Given the description of an element on the screen output the (x, y) to click on. 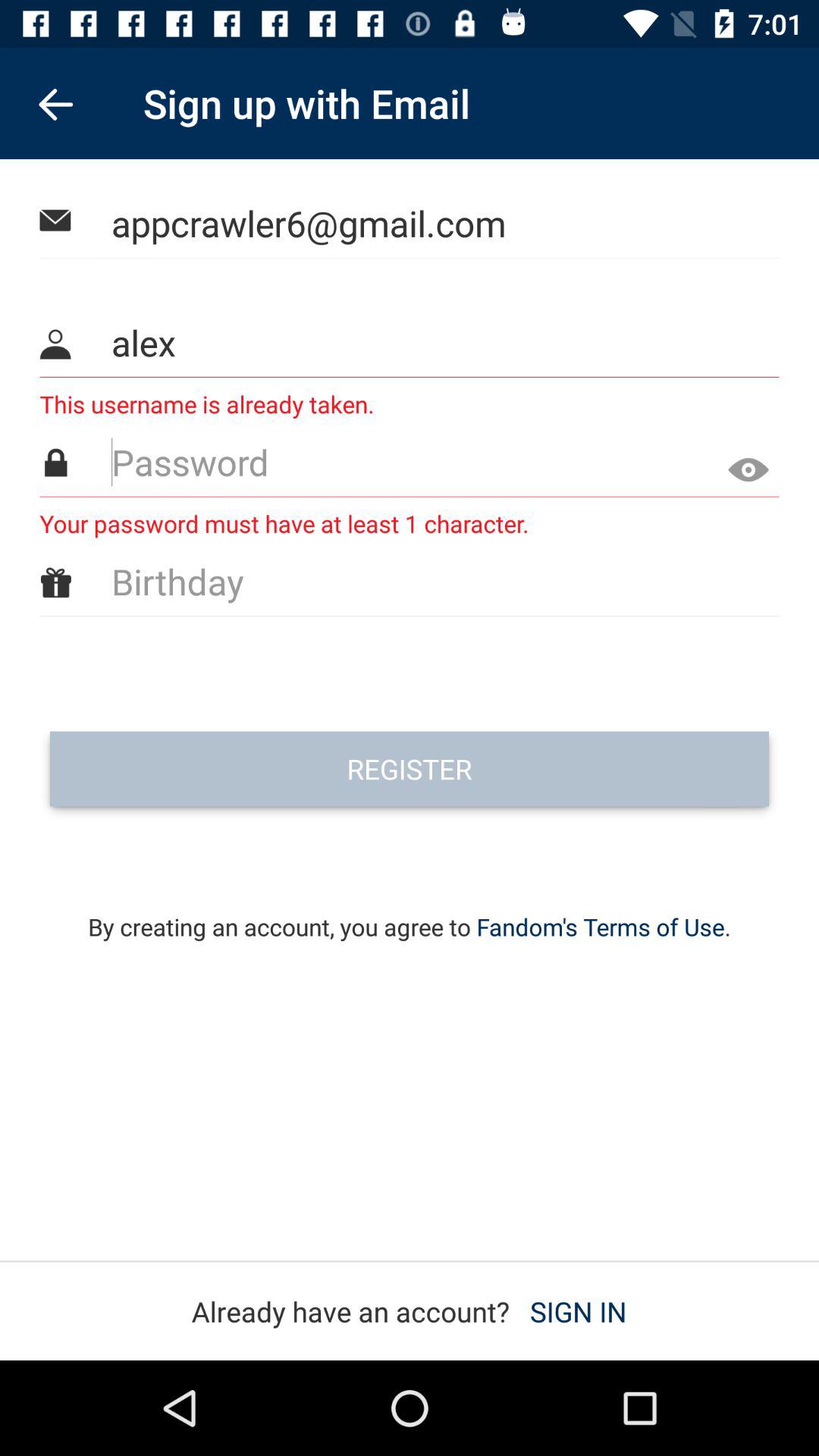
open the appcrawler6@gmail.com item (410, 223)
